Given the description of an element on the screen output the (x, y) to click on. 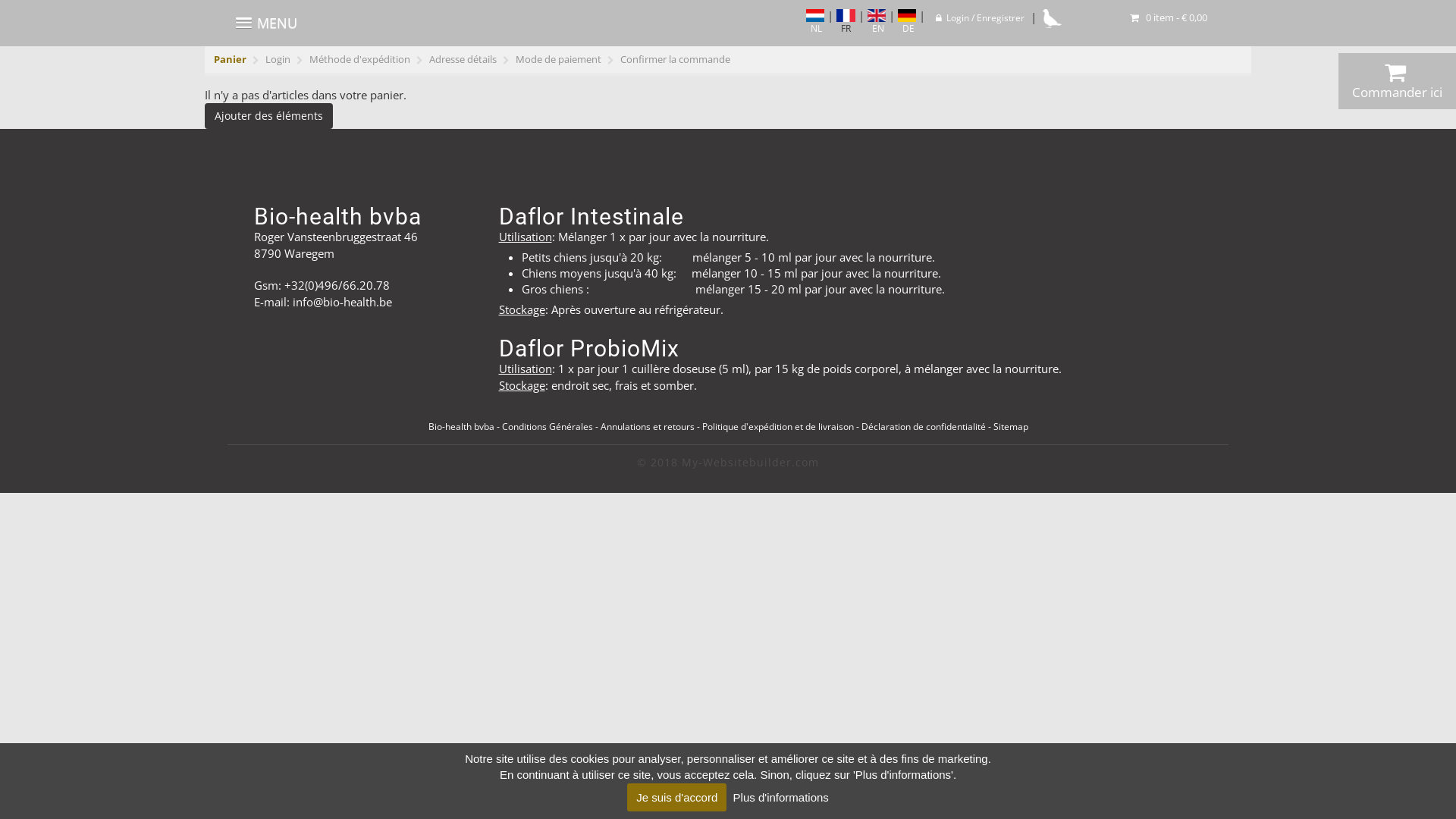
Panier Element type: text (229, 58)
  EN Element type: text (876, 23)
info@bio-health.be Element type: text (342, 301)
  DE Element type: text (906, 23)
Plus d'informations Element type: text (780, 796)
  FR Element type: text (845, 23)
Daflor voor duiven Element type: hover (1051, 18)
Sitemap Element type: text (1010, 426)
MENU Element type: text (266, 23)
  NL Element type: text (815, 23)
Je suis d'accord Element type: text (676, 797)
Login / Enregistrer Element type: text (979, 18)
Annulations et retours Element type: text (647, 426)
